Given the description of an element on the screen output the (x, y) to click on. 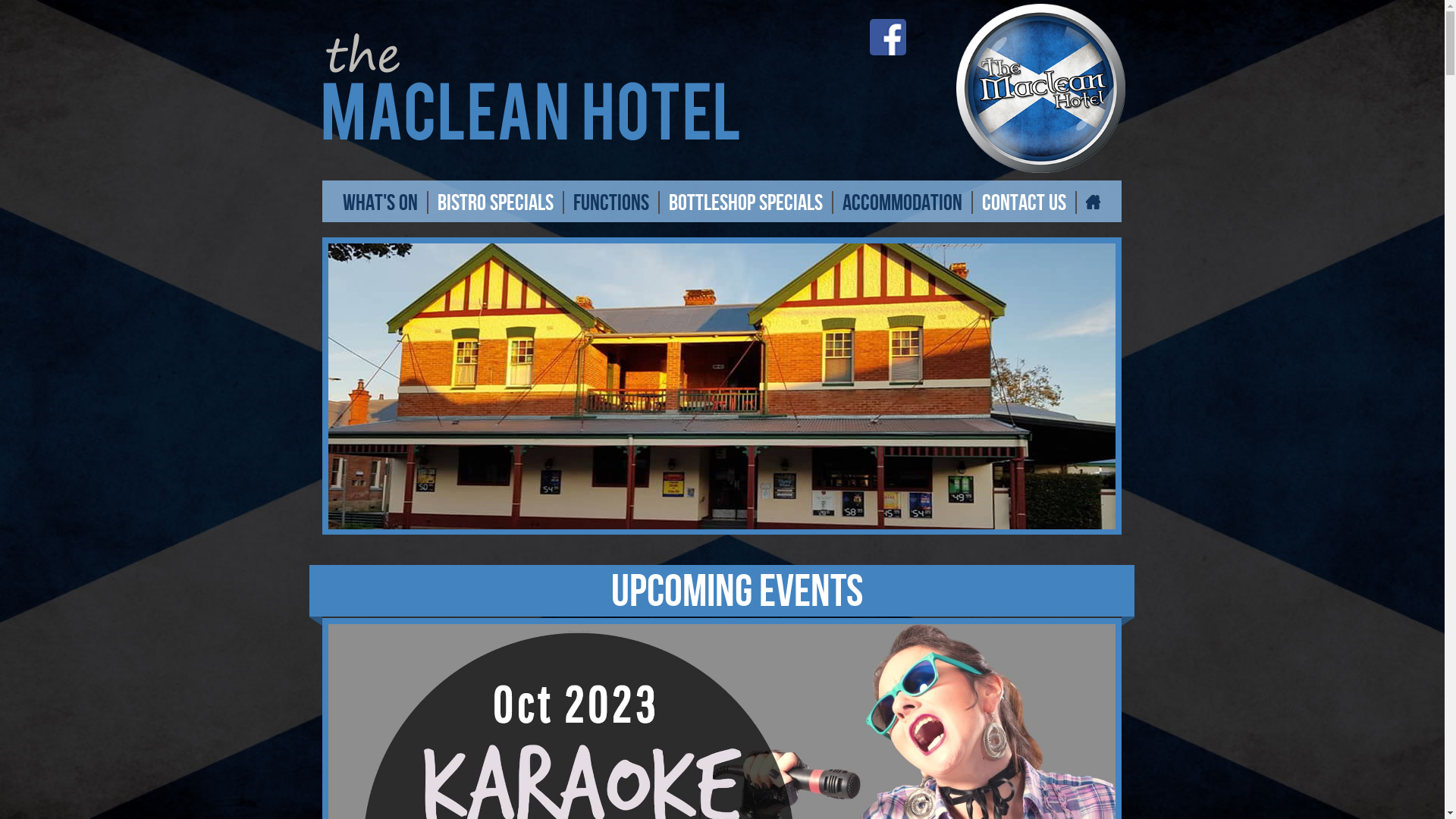
Return to the Home Page (Access Key 1) Element type: hover (1092, 201)
FUNCTIONS Element type: text (611, 201)
Return to the Home Page (Access Key 1) Element type: hover (1039, 85)
Visit us on Facebook Element type: hover (891, 36)
BISTRO SPECIALS Element type: text (495, 201)
BOTTLESHOP SPECIALS Element type: text (745, 201)
CONTACT US Element type: text (1024, 201)
WHAT'S ON Element type: text (379, 201)
ACCOMMODATION Element type: text (902, 201)
Return to the Home Page (Access Key 1) Element type: hover (638, 87)
